Given the description of an element on the screen output the (x, y) to click on. 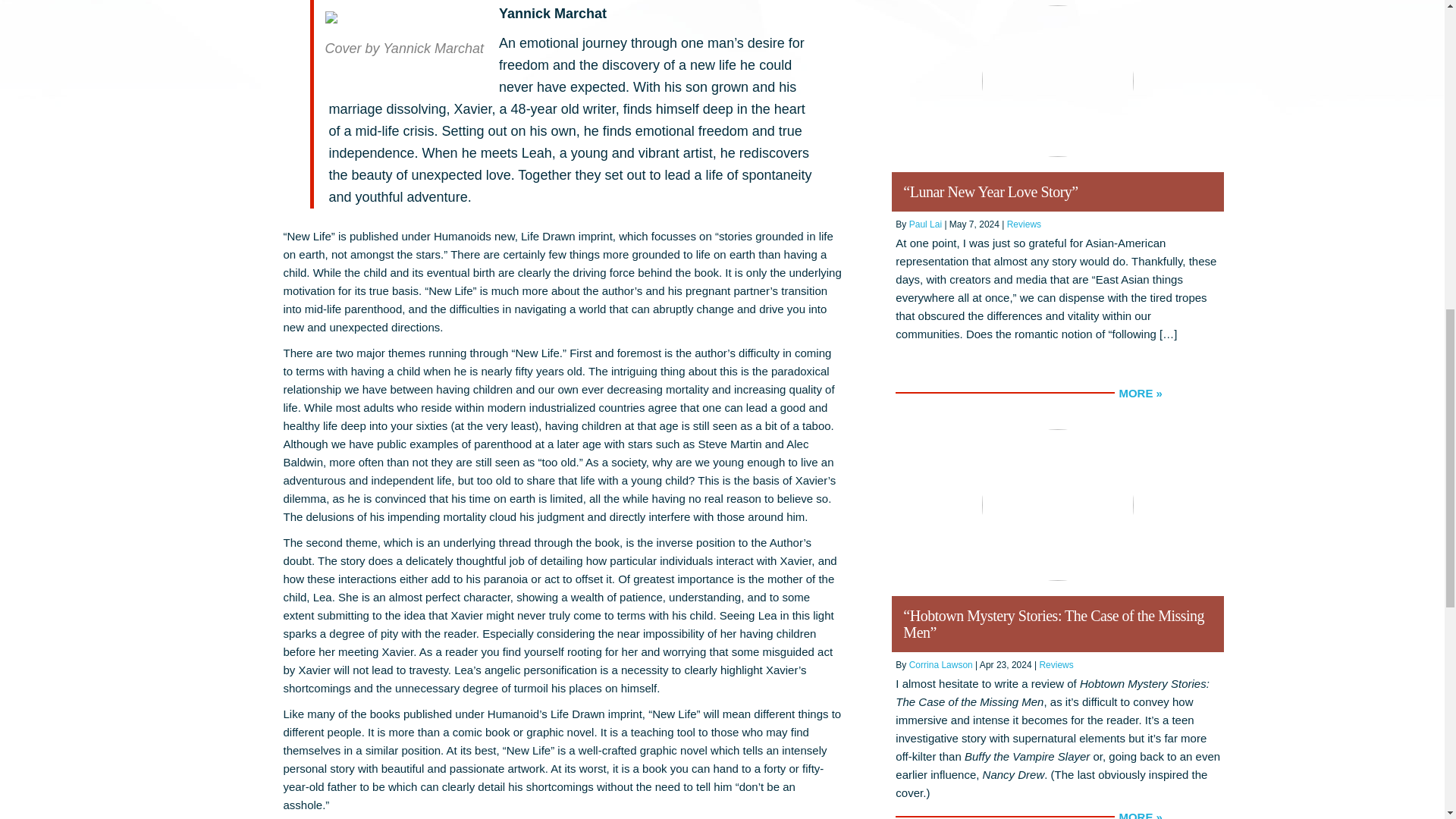
Reviews (1056, 665)
Posts by Paul Lai (925, 224)
Paul Lai (925, 224)
Cover by Yannick Marchat (403, 37)
Reviews (1024, 224)
Posts by Corrina Lawson (940, 665)
Corrina Lawson (940, 665)
